Given the description of an element on the screen output the (x, y) to click on. 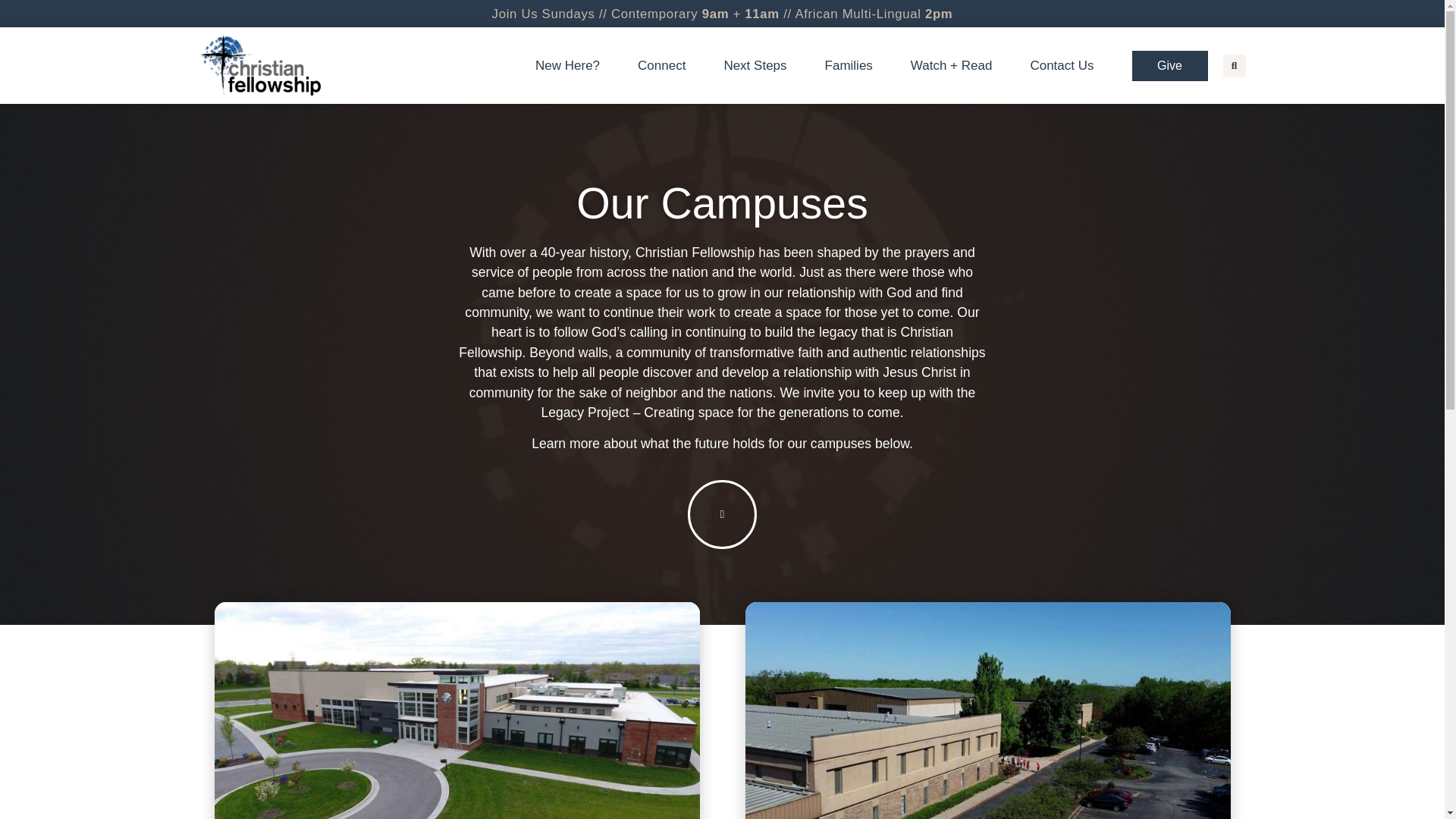
Next Steps (758, 65)
Connect (660, 65)
Families (852, 65)
Contact Us (1065, 65)
New Here? (566, 65)
Join Us Sundays (537, 13)
African Multi-Lingual 2pm (868, 13)
